Given the description of an element on the screen output the (x, y) to click on. 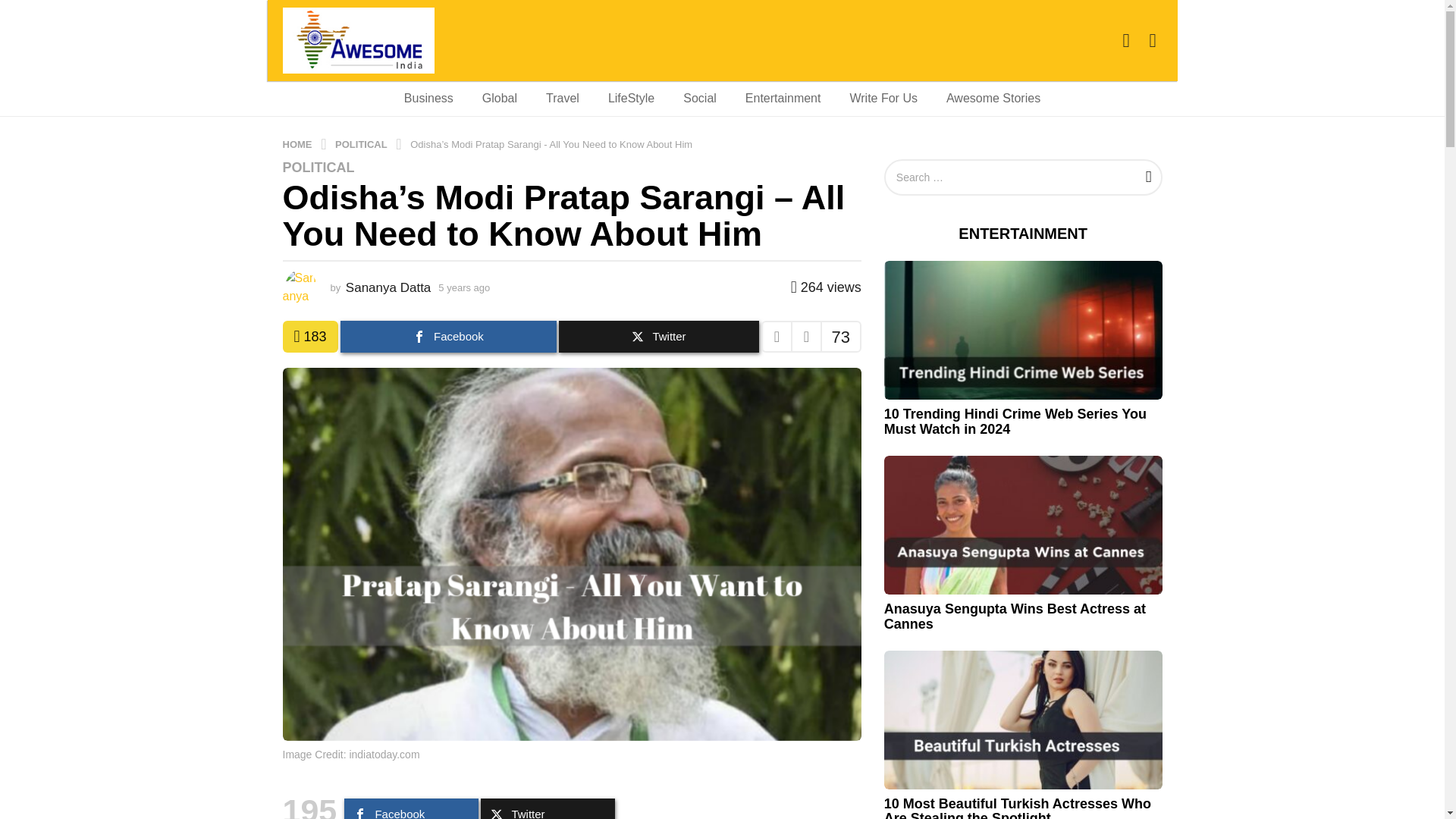
Awesome Stories (992, 98)
Social (699, 98)
Global (499, 98)
Travel (562, 98)
LifeStyle (630, 98)
Write For Us (883, 98)
Business (428, 98)
Entertainment (782, 98)
